Given the description of an element on the screen output the (x, y) to click on. 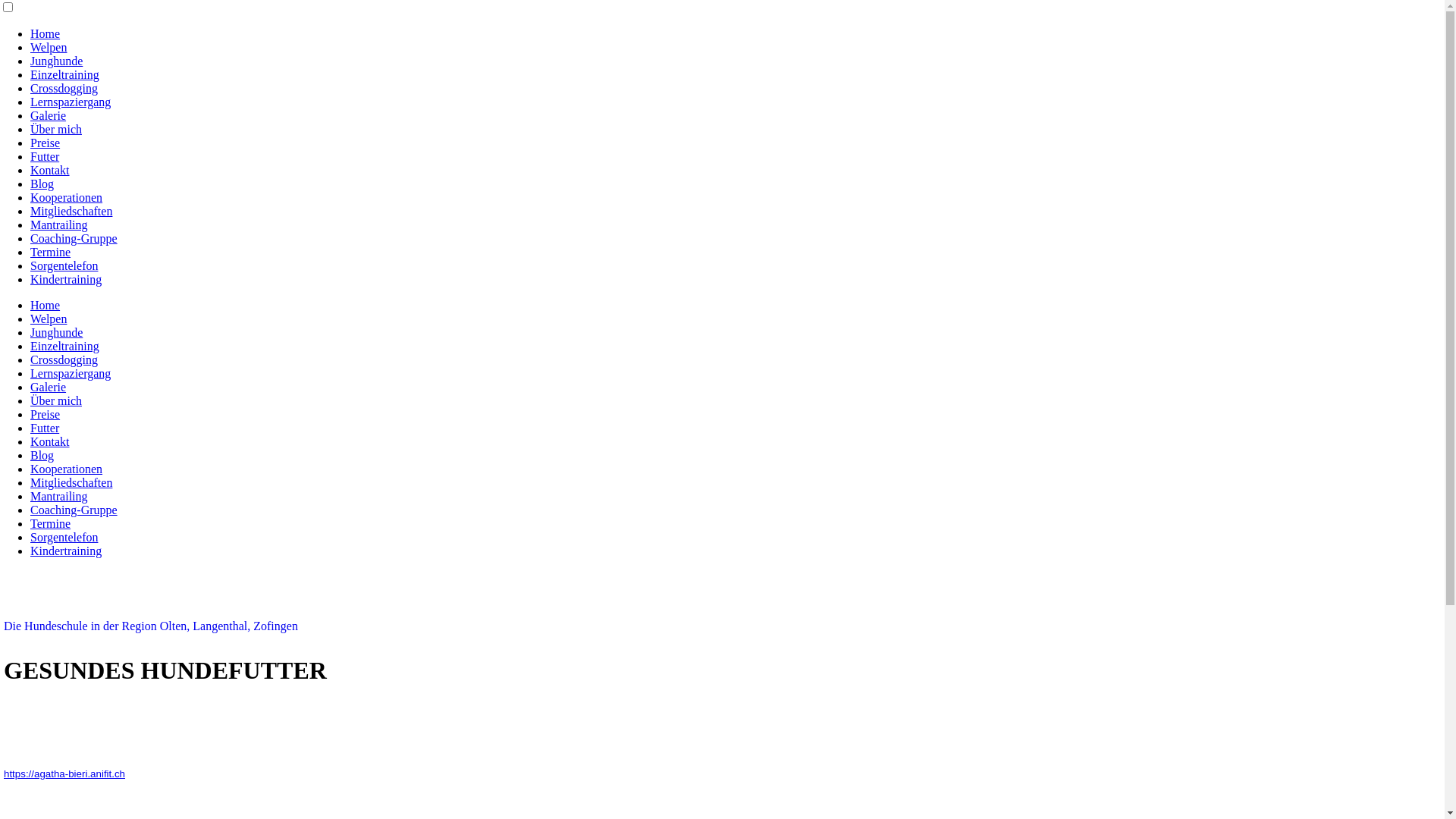
Einzeltraining Element type: text (64, 345)
Sorgentelefon Element type: text (63, 536)
Sorgentelefon Element type: text (63, 265)
Futter Element type: text (44, 156)
Termine Element type: text (50, 523)
Coaching-Gruppe Element type: text (73, 509)
Kindertraining Element type: text (65, 550)
Galerie Element type: text (47, 386)
Kooperationen Element type: text (66, 468)
Preise Element type: text (44, 142)
Lernspaziergang Element type: text (70, 373)
Lernspaziergang Element type: text (70, 101)
Welpen Element type: text (48, 46)
Kontakt Element type: text (49, 169)
Kooperationen Element type: text (66, 197)
Home Element type: text (44, 33)
https://agatha-bieri.anifit.ch Element type: text (64, 773)
Einzeltraining Element type: text (64, 74)
Termine Element type: text (50, 251)
Kontakt Element type: text (49, 441)
Mantrailing Element type: text (58, 224)
Junghunde Element type: text (56, 60)
Mitgliedschaften Element type: text (71, 482)
Junghunde Element type: text (56, 332)
Home Element type: text (44, 304)
Kindertraining Element type: text (65, 279)
Galerie Element type: text (47, 115)
Coaching-Gruppe Element type: text (73, 238)
Mitgliedschaften Element type: text (71, 210)
Preise Element type: text (44, 413)
Crossdogging Element type: text (63, 359)
Blog Element type: text (41, 454)
Blog Element type: text (41, 183)
Die Hundeschule in der Region Olten, Langenthal, Zofingen Element type: text (150, 625)
Futter Element type: text (44, 427)
Mantrailing Element type: text (58, 495)
Welpen Element type: text (48, 318)
Crossdogging Element type: text (63, 87)
